Given the description of an element on the screen output the (x, y) to click on. 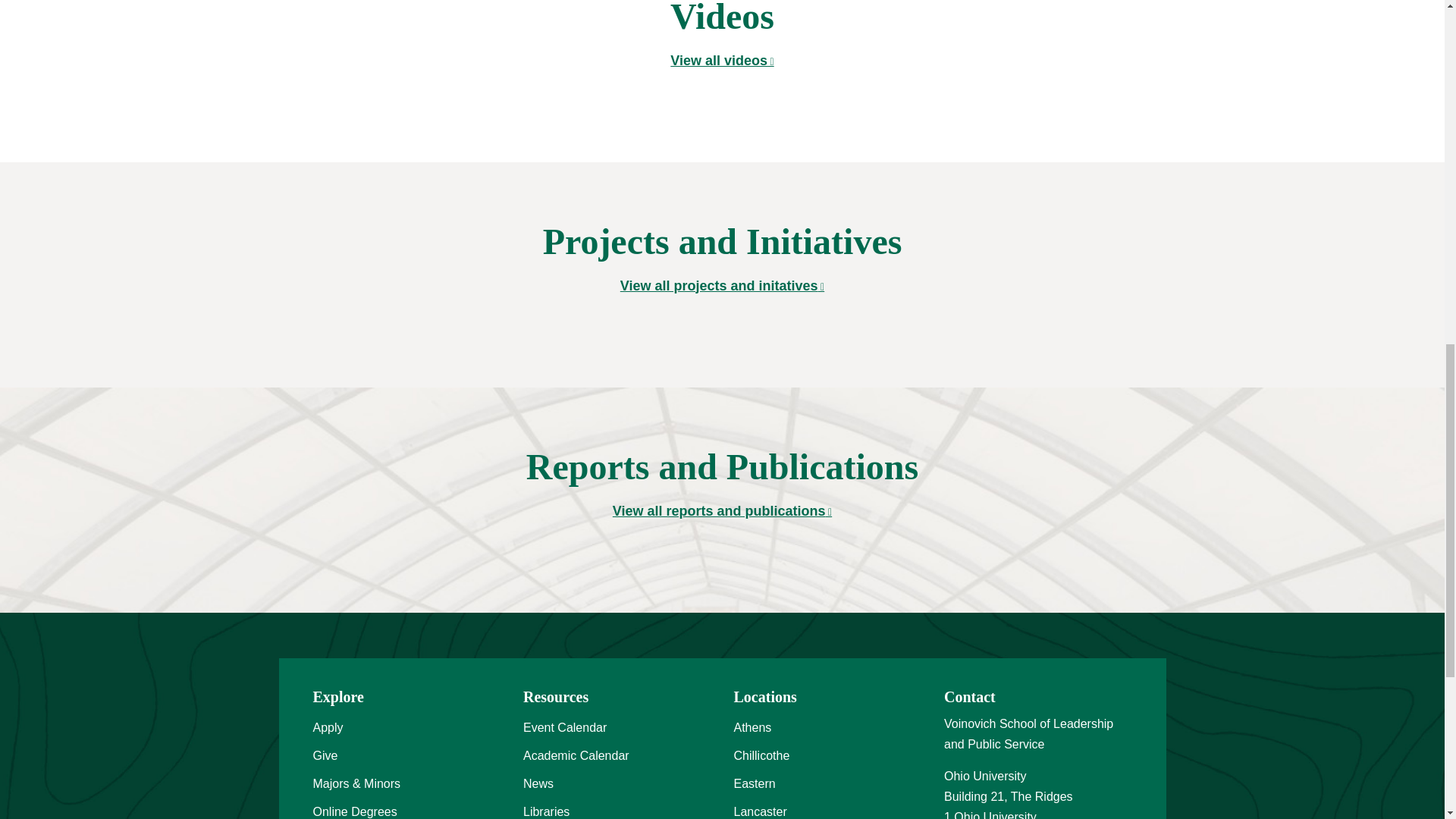
Videos (721, 60)
Reports and Publications (721, 510)
Projects and Initiatives (722, 284)
